Given the description of an element on the screen output the (x, y) to click on. 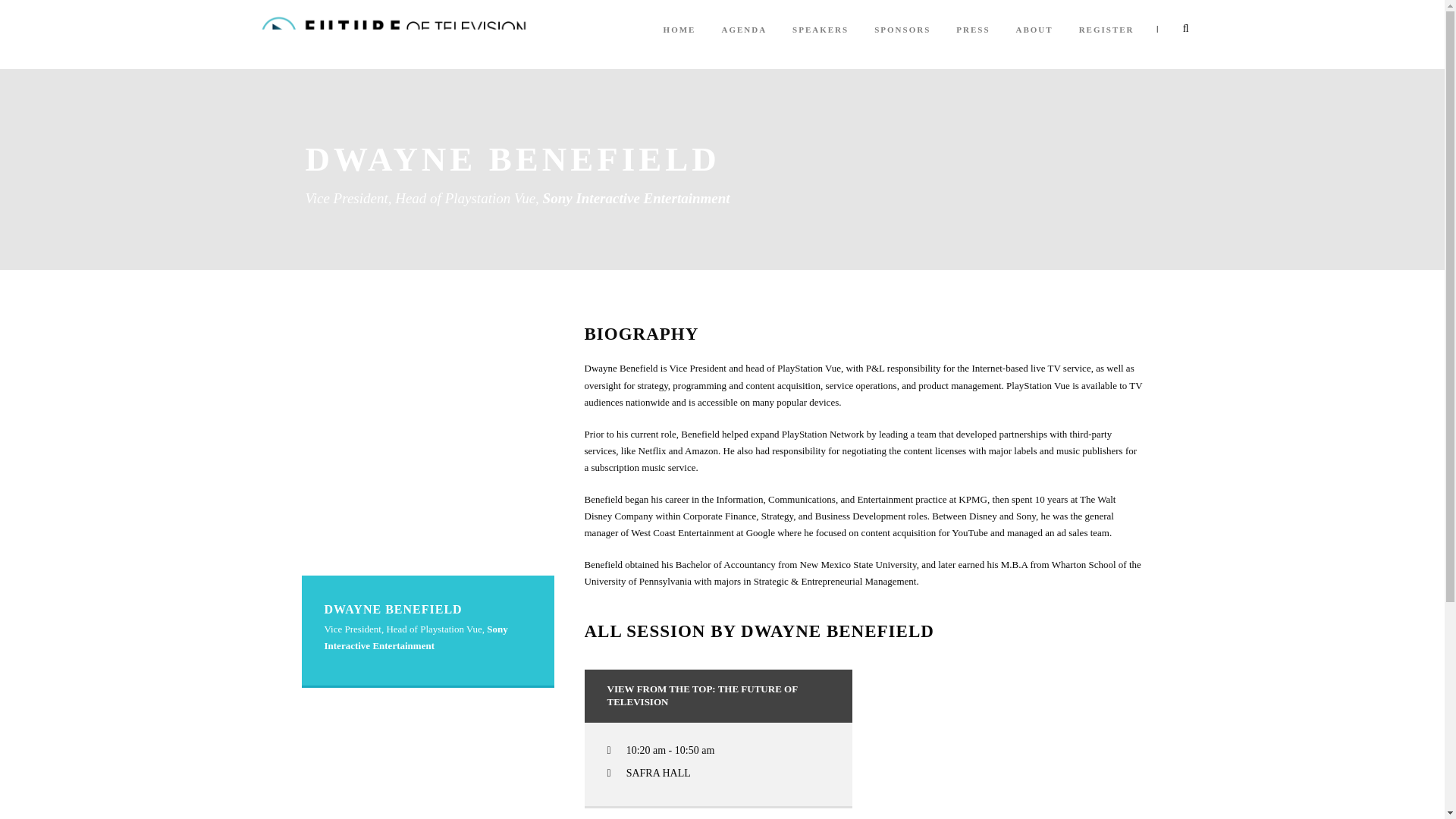
SPEAKERS (820, 44)
AGENDA (743, 44)
